Given the description of an element on the screen output the (x, y) to click on. 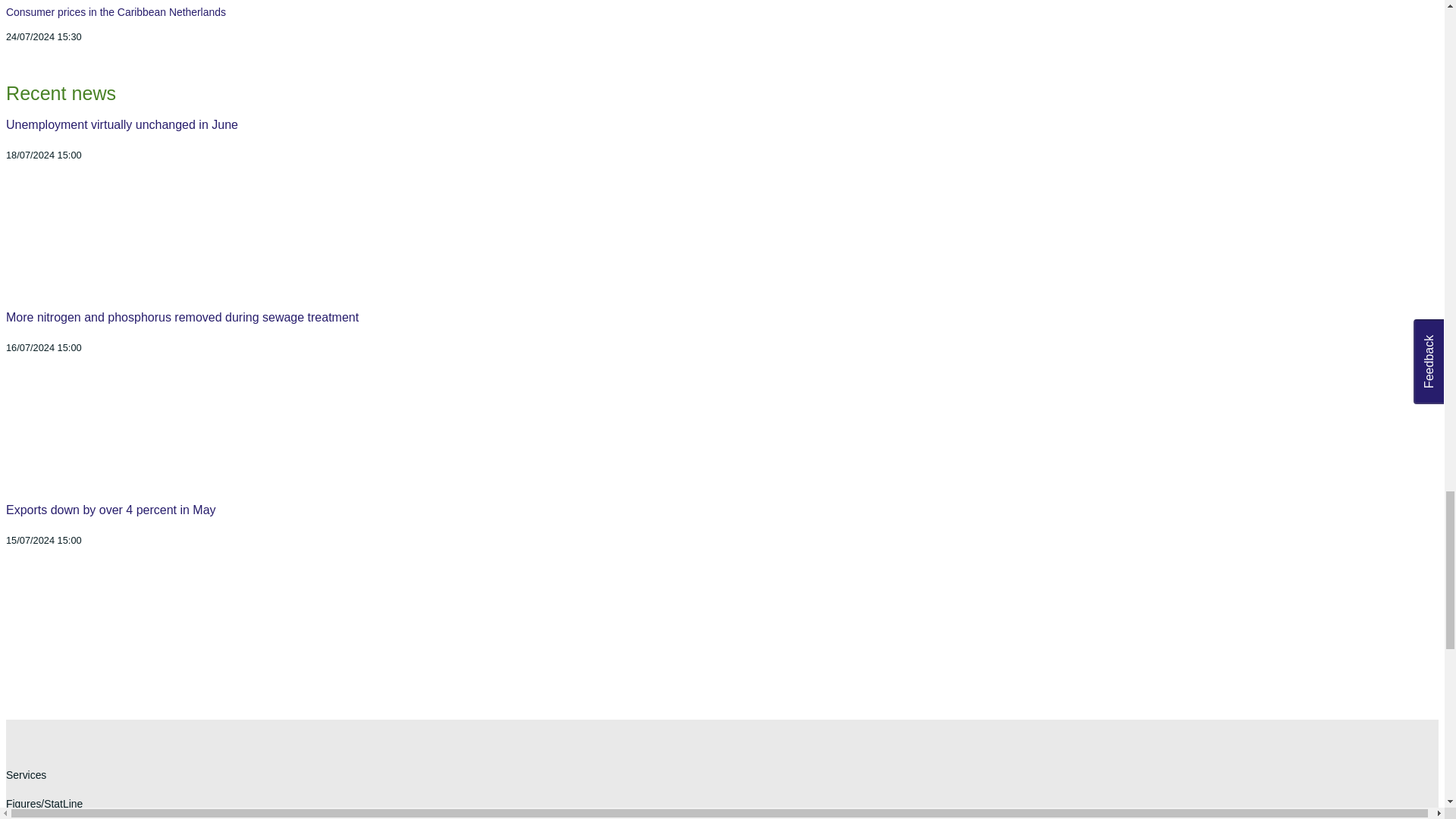
Publication calendar (721, 22)
